Given the description of an element on the screen output the (x, y) to click on. 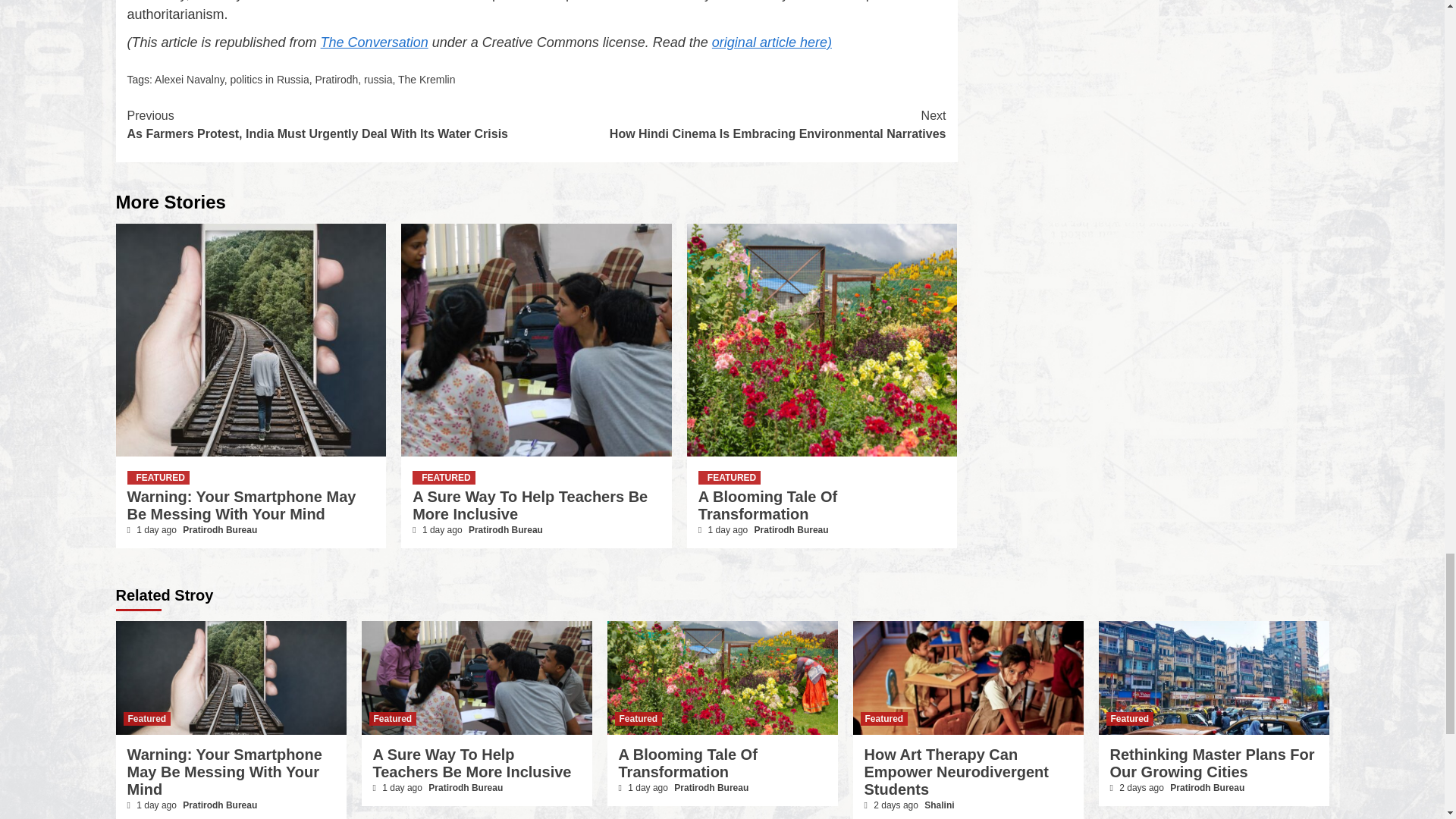
The Kremlin (425, 79)
russia (377, 79)
politics in Russia (269, 79)
Alexei Navalny (189, 79)
The Conversation (374, 42)
Pratirodh (336, 79)
